Given the description of an element on the screen output the (x, y) to click on. 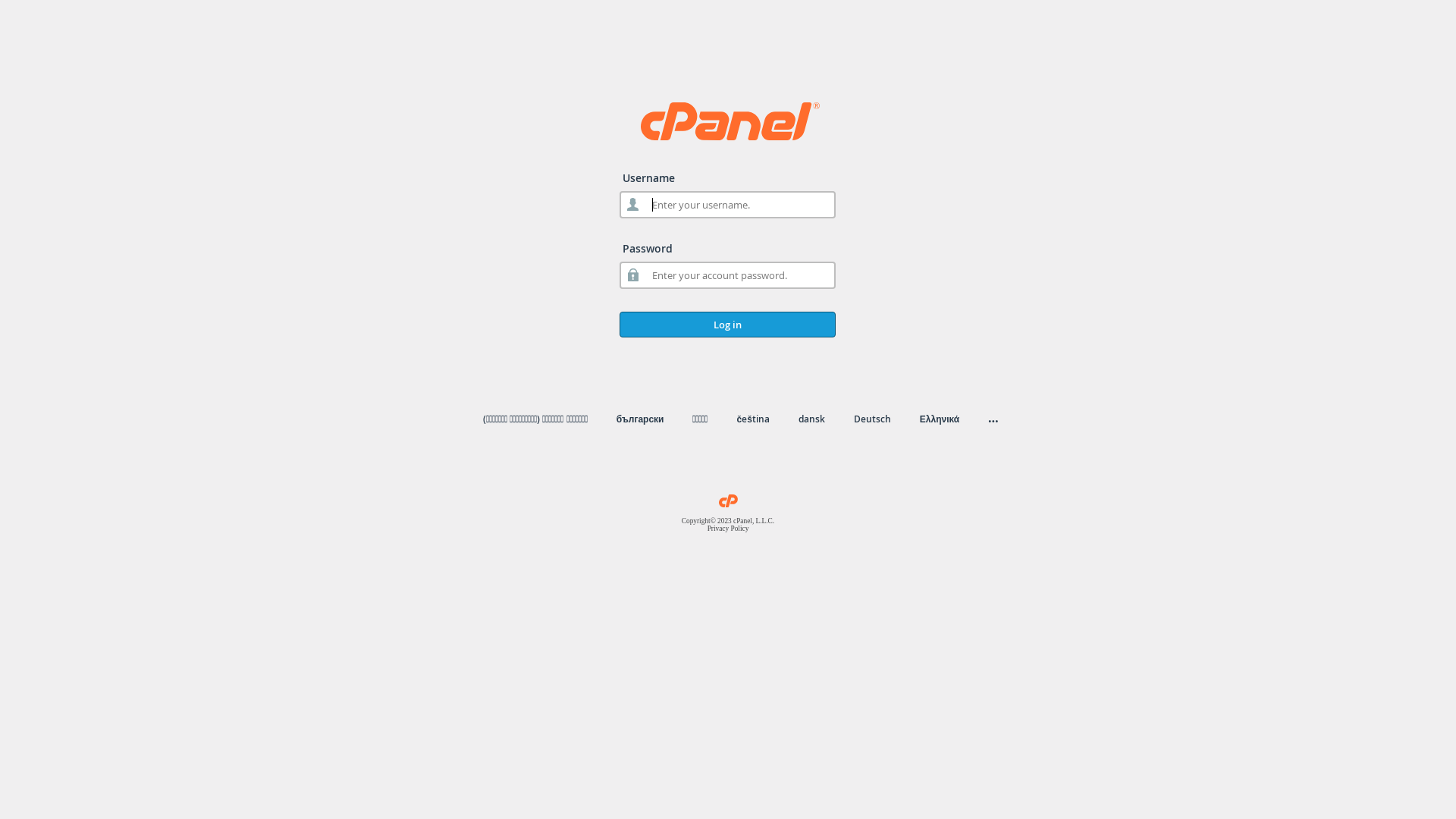
Privacy Policy Element type: text (728, 528)
Deutsch Element type: text (872, 418)
Log in Element type: text (727, 324)
dansk Element type: text (811, 418)
